Given the description of an element on the screen output the (x, y) to click on. 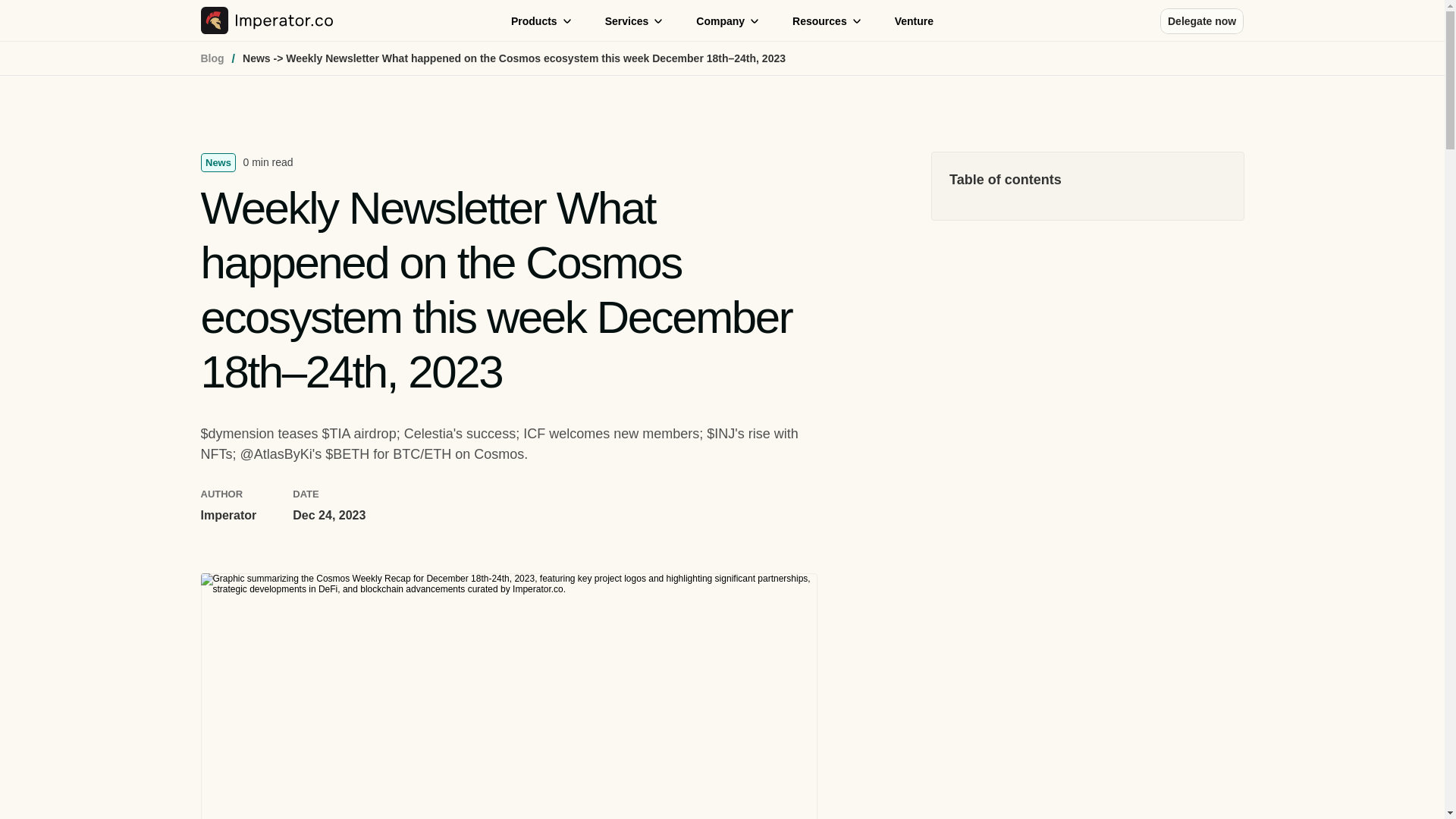
Resources (827, 20)
Blog (212, 58)
Delegate now (1201, 20)
Products (541, 20)
Services (634, 20)
Company (728, 20)
Venture (914, 21)
